Given the description of an element on the screen output the (x, y) to click on. 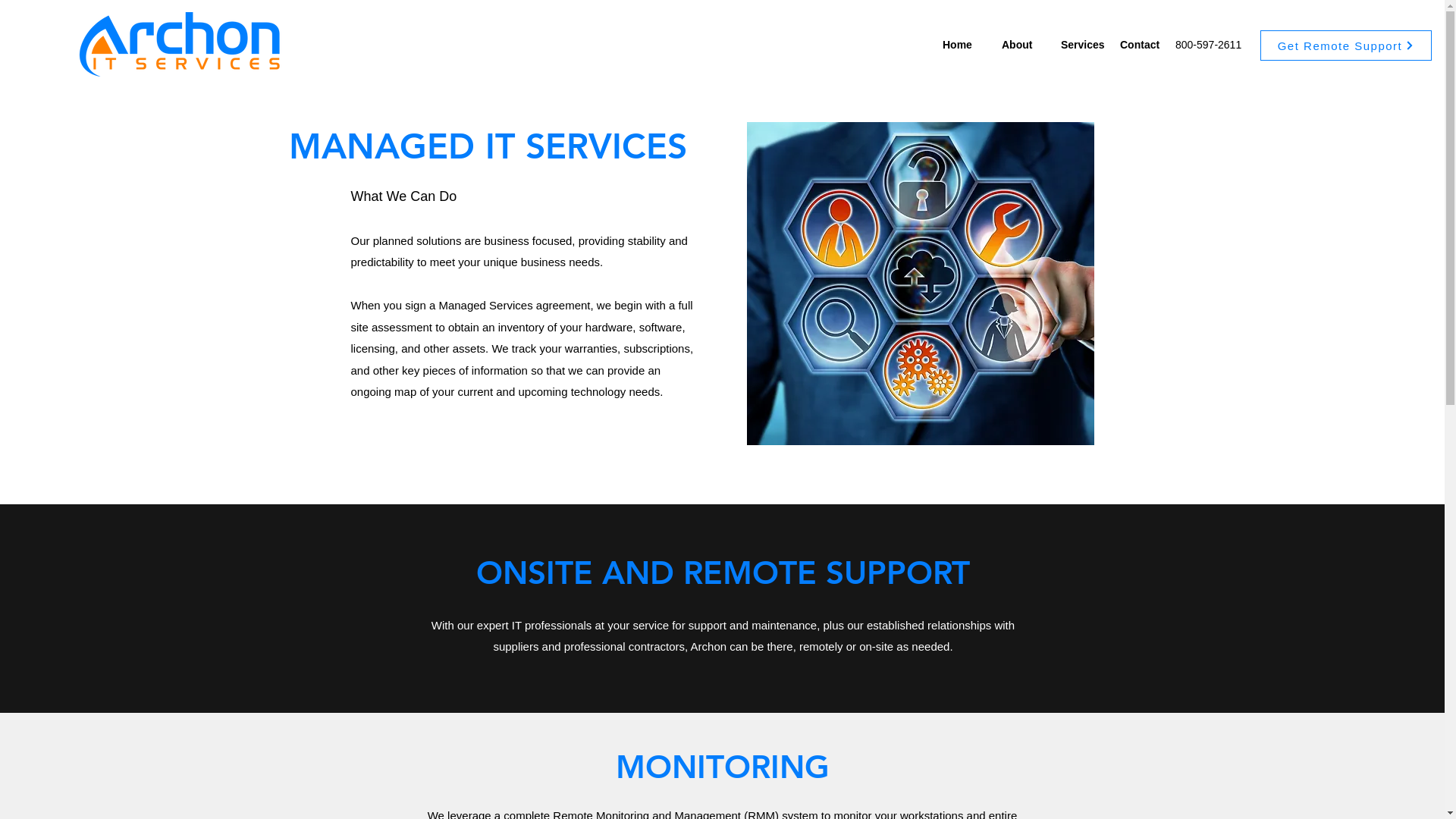
Get Remote Support Element type: text (1345, 45)
Home Element type: text (964, 44)
Contact Element type: text (1141, 44)
About Element type: text (1023, 44)
shutterstock_469373837_edited.jpg Element type: hover (919, 283)
